Given the description of an element on the screen output the (x, y) to click on. 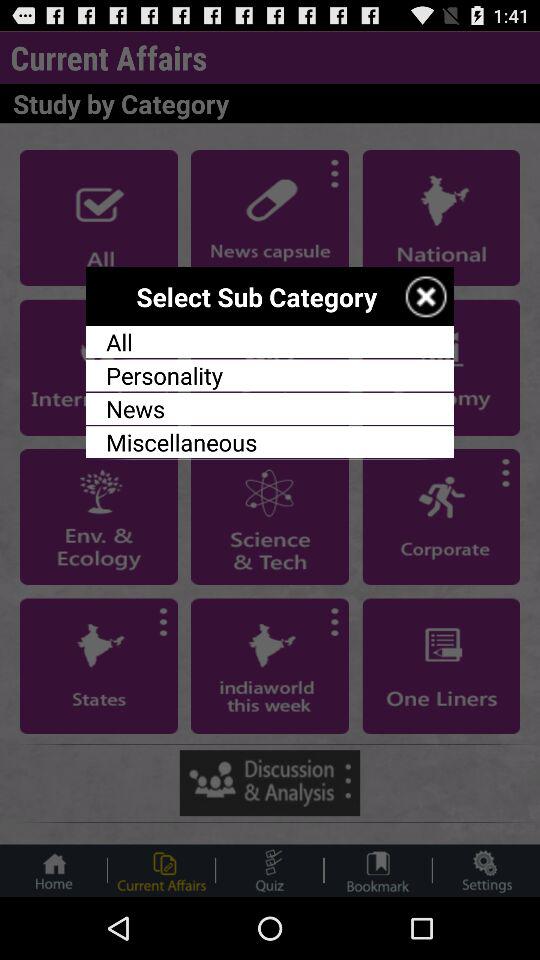
flip to the news app (269, 408)
